Given the description of an element on the screen output the (x, y) to click on. 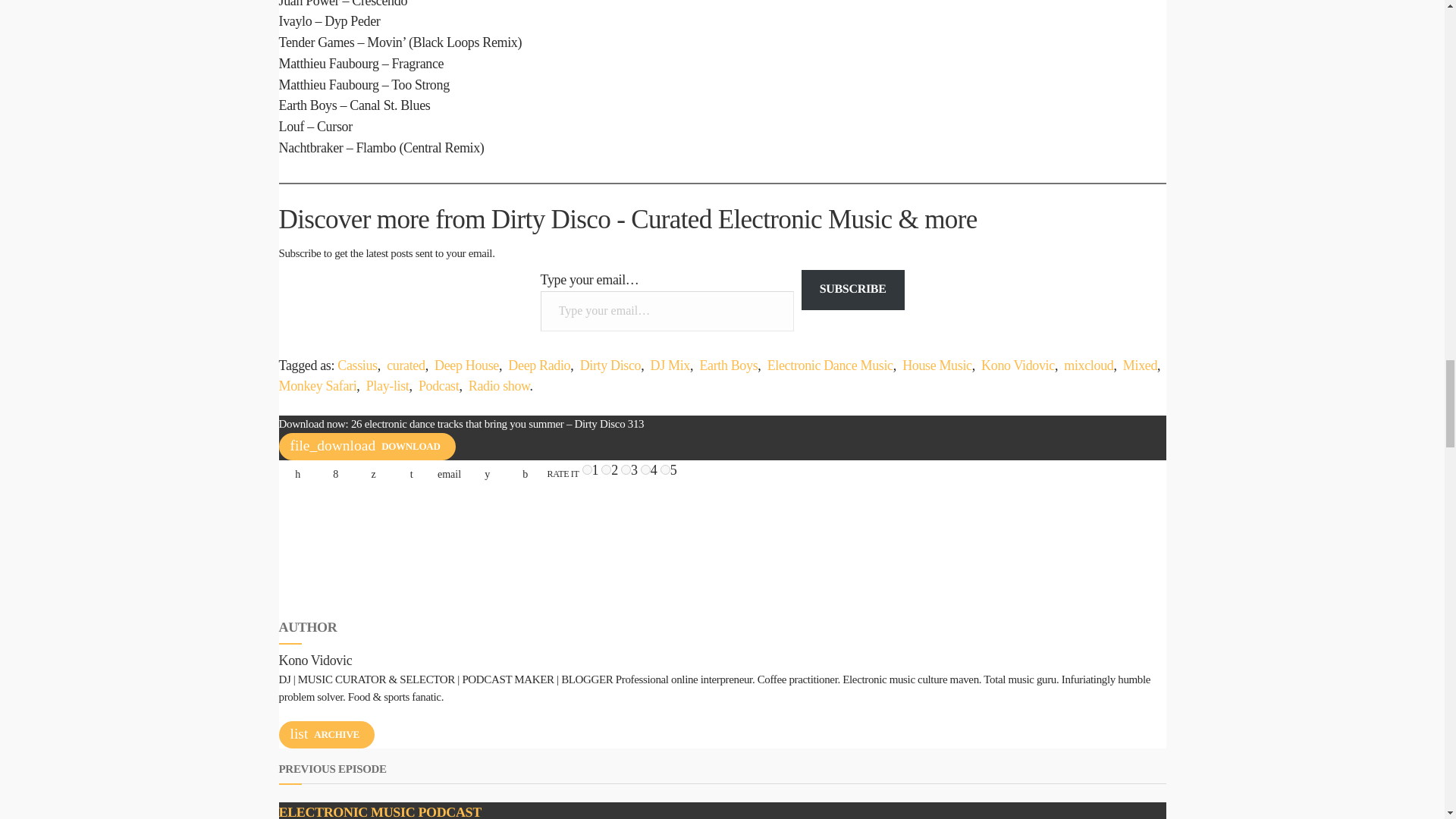
3 (625, 470)
4 (645, 470)
Please fill in this field. (666, 311)
5 (665, 470)
2 (606, 470)
1 (587, 470)
